Given the description of an element on the screen output the (x, y) to click on. 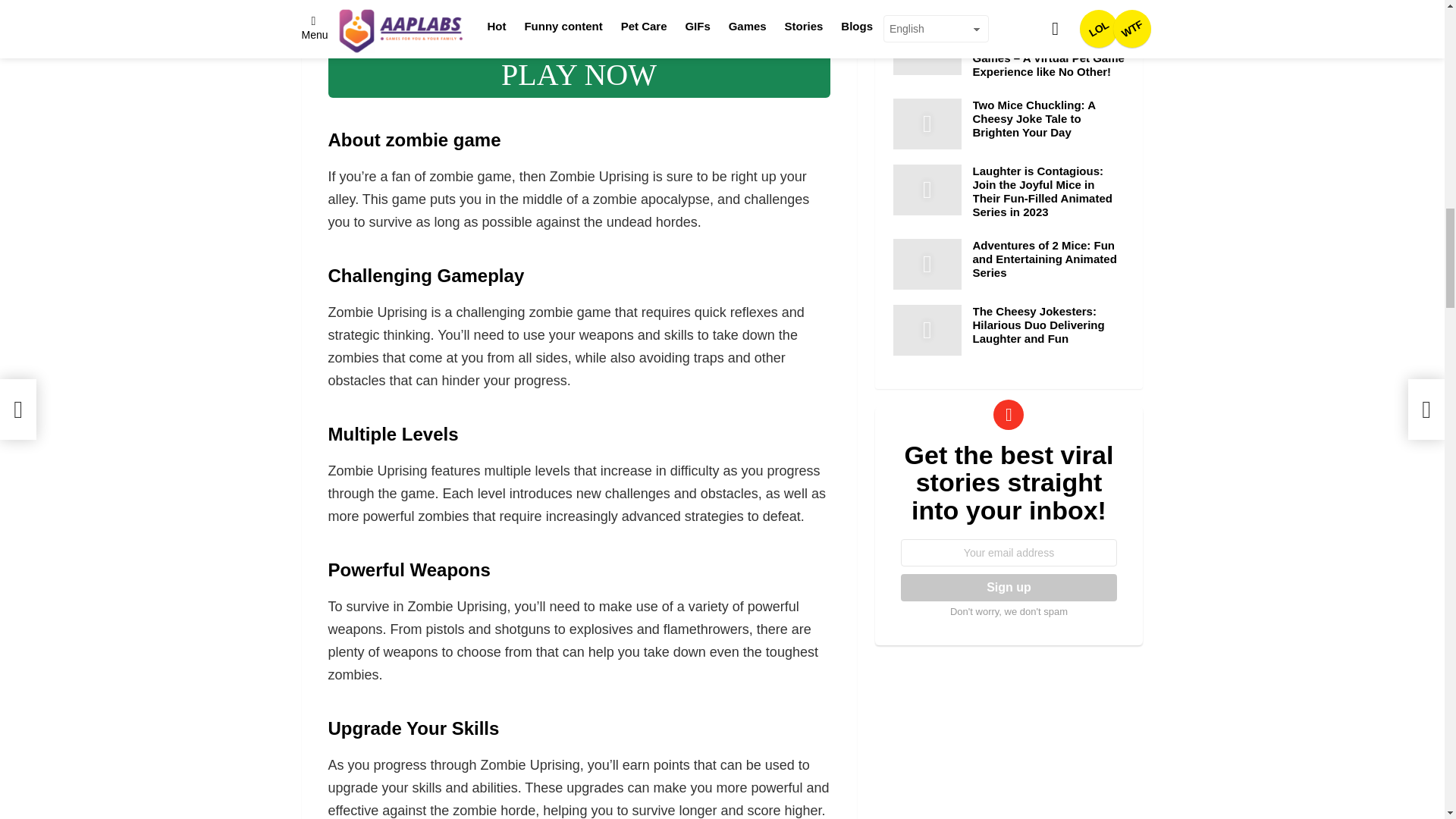
Sign up (1009, 587)
